Given the description of an element on the screen output the (x, y) to click on. 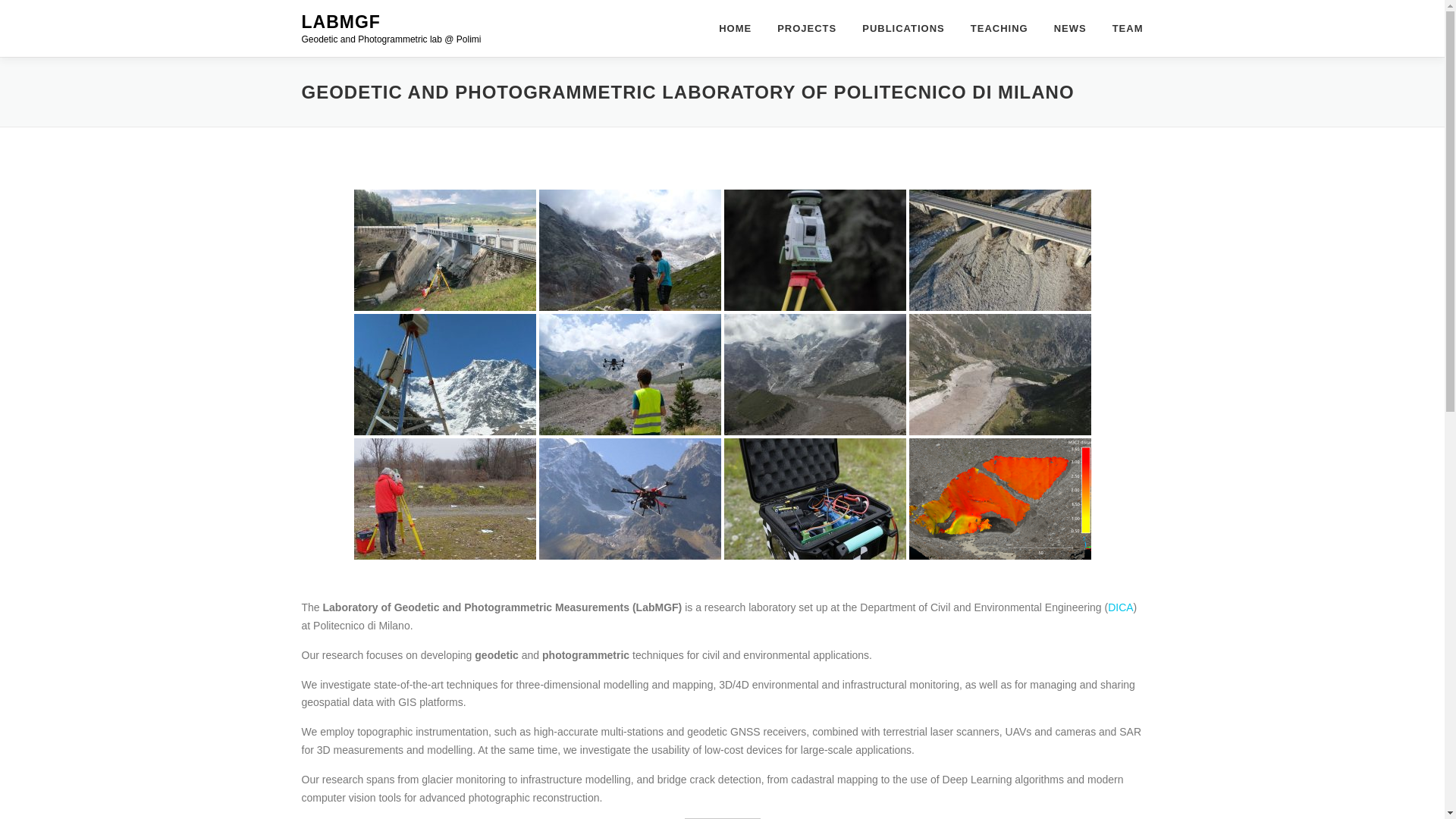
DSC3278 (629, 373)
0.9.142 (999, 250)
DICA (1120, 607)
ms60 (814, 250)
WhatsApp-Image-2022-05-19-at-6.30.28-PM-4-e1653212312257 (444, 373)
DSC3374 (629, 250)
HOME (735, 28)
PUBLICATIONS (903, 28)
PROJECTS (806, 28)
NEWS (1070, 28)
LABMGF (340, 21)
TEACHING (999, 28)
